Given the description of an element on the screen output the (x, y) to click on. 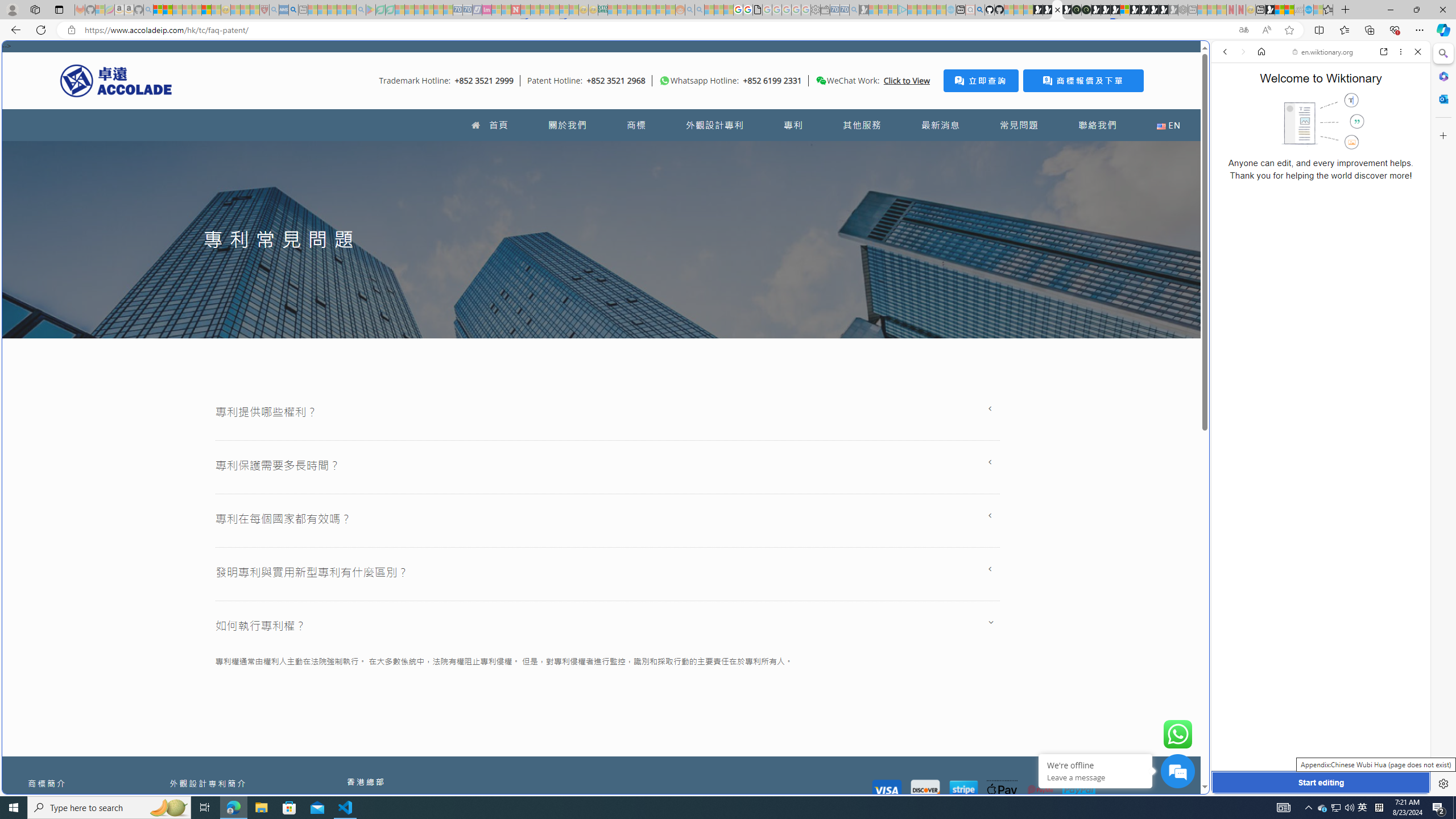
Search or enter web address (922, 108)
